Given the description of an element on the screen output the (x, y) to click on. 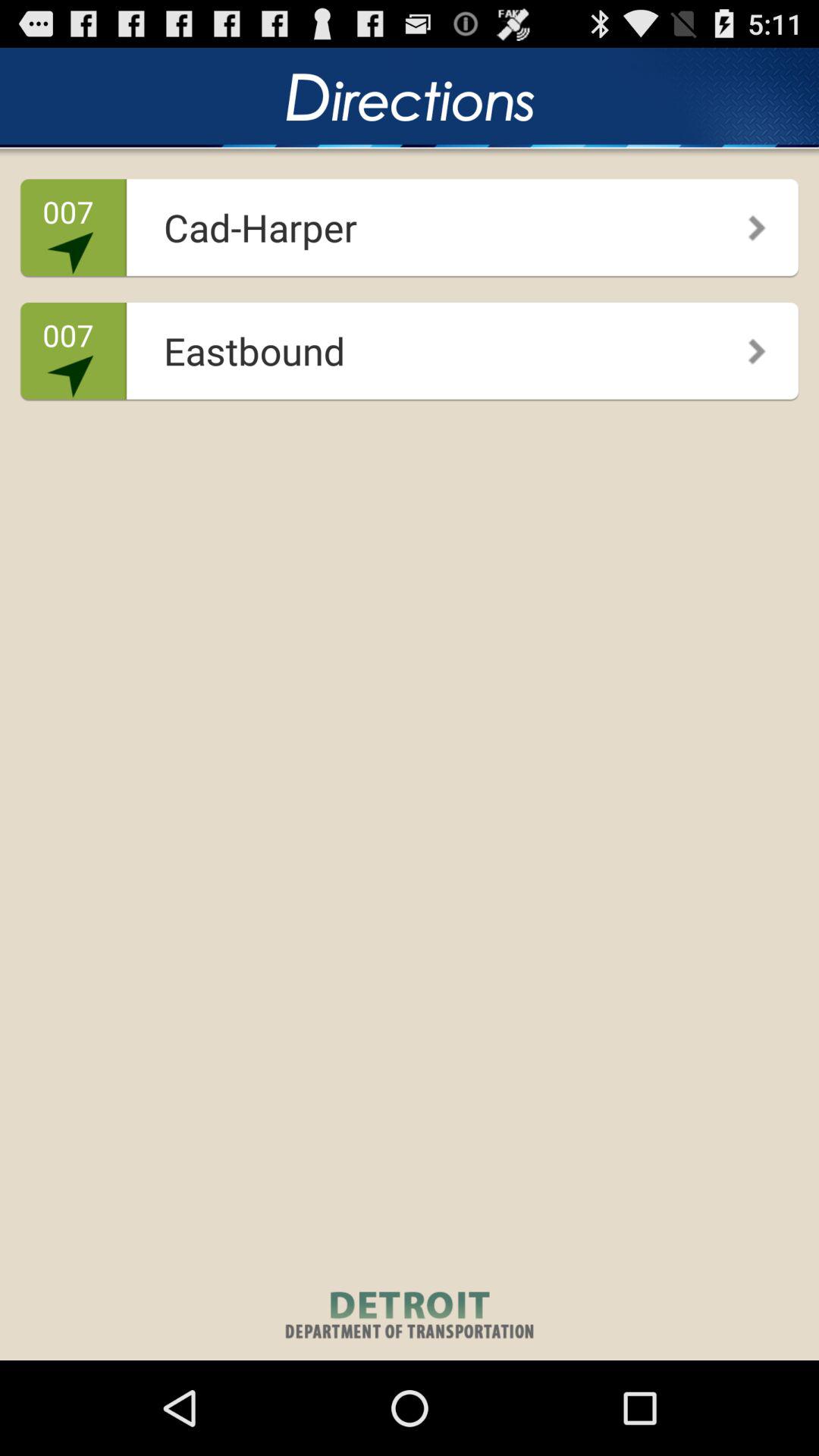
turn on the app next to the eastbound (746, 345)
